Given the description of an element on the screen output the (x, y) to click on. 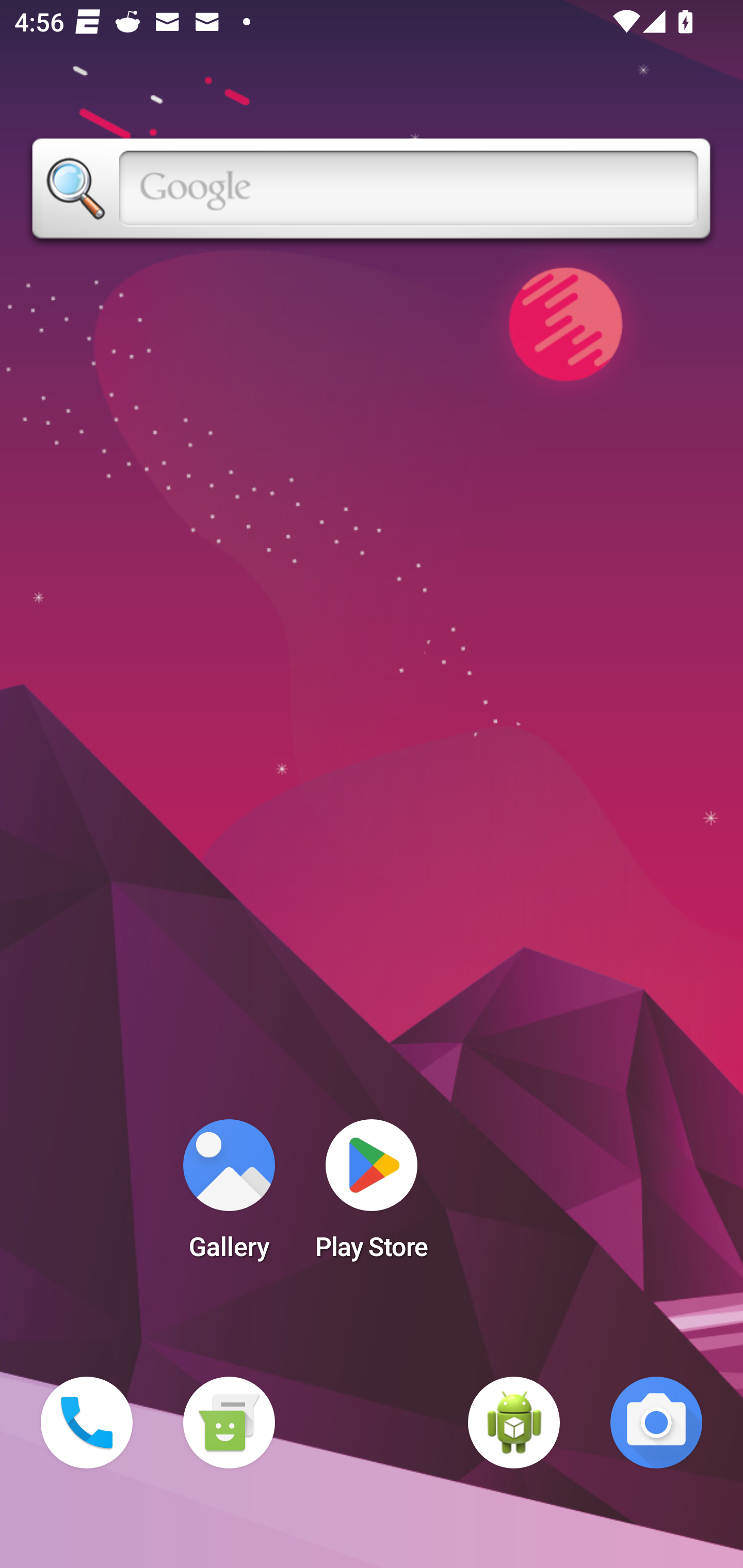
Gallery (228, 1195)
Play Store (371, 1195)
Phone (86, 1422)
Messaging (228, 1422)
WebView Browser Tester (513, 1422)
Camera (656, 1422)
